Given the description of an element on the screen output the (x, y) to click on. 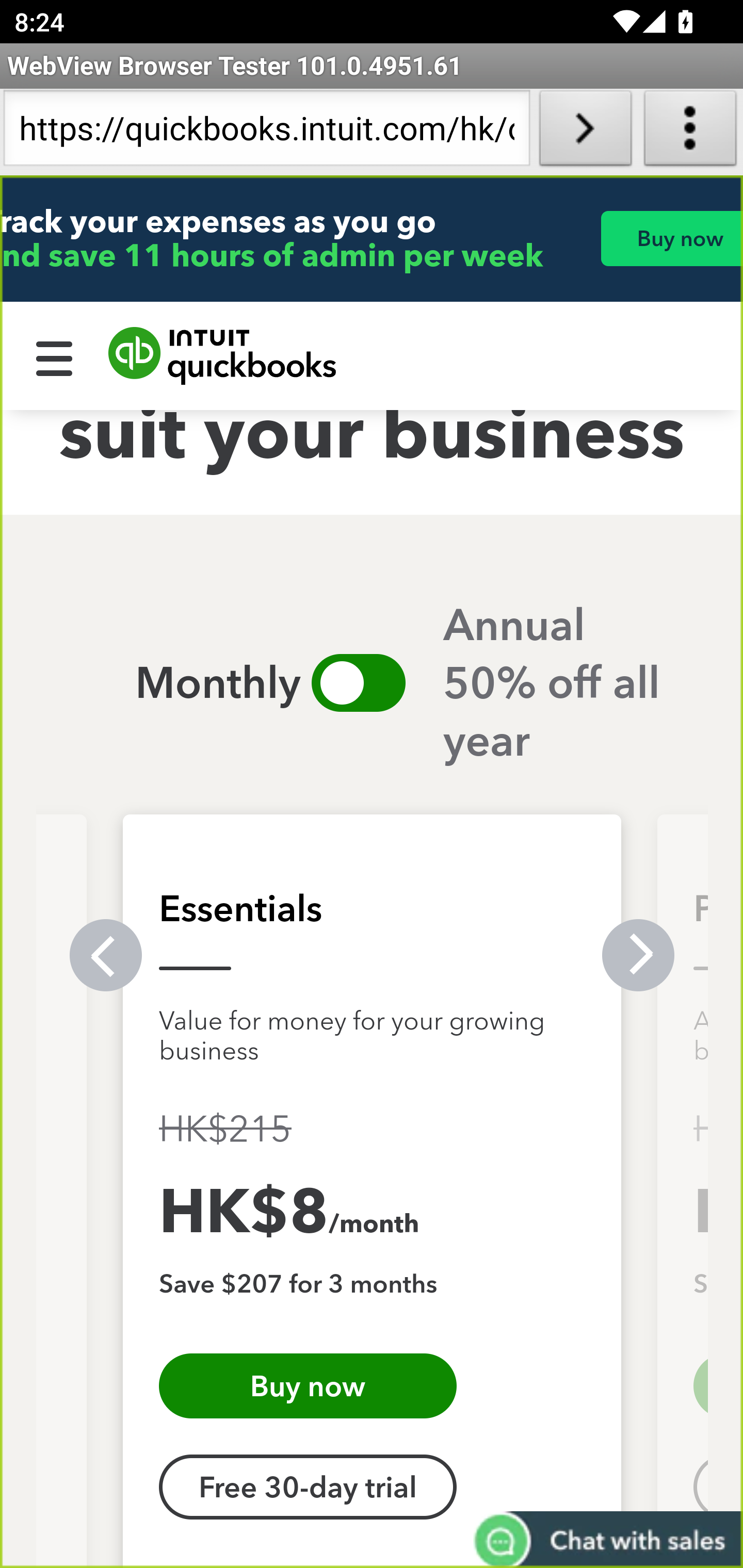
Load URL (585, 132)
About WebView (690, 132)
Buy now (671, 238)
Annual 50% off all year (570, 683)
Monthly (174, 683)
Monthly  (358, 683)
Buy now (307, 1386)
Free 30-day trial (307, 1488)
